Given the description of an element on the screen output the (x, y) to click on. 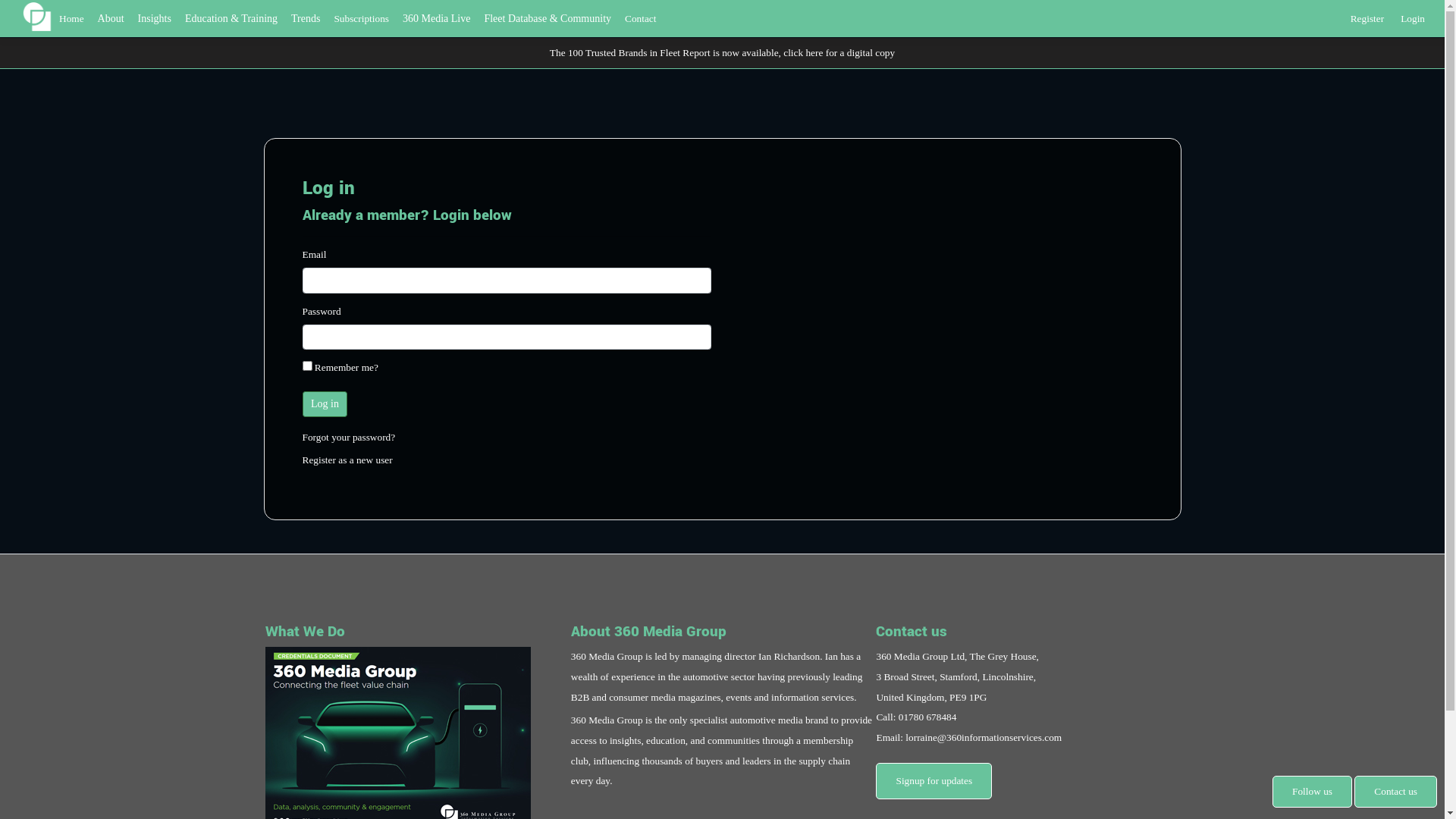
lorraine@360informationservices.com Element type: text (983, 737)
Our Credentials Brochure | Fleet Insight | 360 Media Group Element type: hover (397, 739)
Contact us Element type: text (1395, 791)
Subscriptions Element type: text (361, 18)
Education & Training Element type: text (230, 18)
360 Media Live Element type: text (436, 18)
Login Element type: text (1412, 15)
Trends Element type: text (305, 18)
Register Element type: text (1367, 15)
Signup for updates Element type: text (933, 781)
About Element type: text (110, 18)
Fleet Database & Community Element type: text (547, 18)
Contact Element type: text (640, 18)
Welcome to | Fleet Insight | 360 Media Group Element type: hover (36, 16)
Log in Element type: text (324, 404)
Register as a new user Element type: text (346, 459)
Insights Element type: text (154, 18)
Home Element type: text (71, 18)
Follow us Element type: text (1312, 791)
Forgot your password? Element type: text (348, 436)
